Given the description of an element on the screen output the (x, y) to click on. 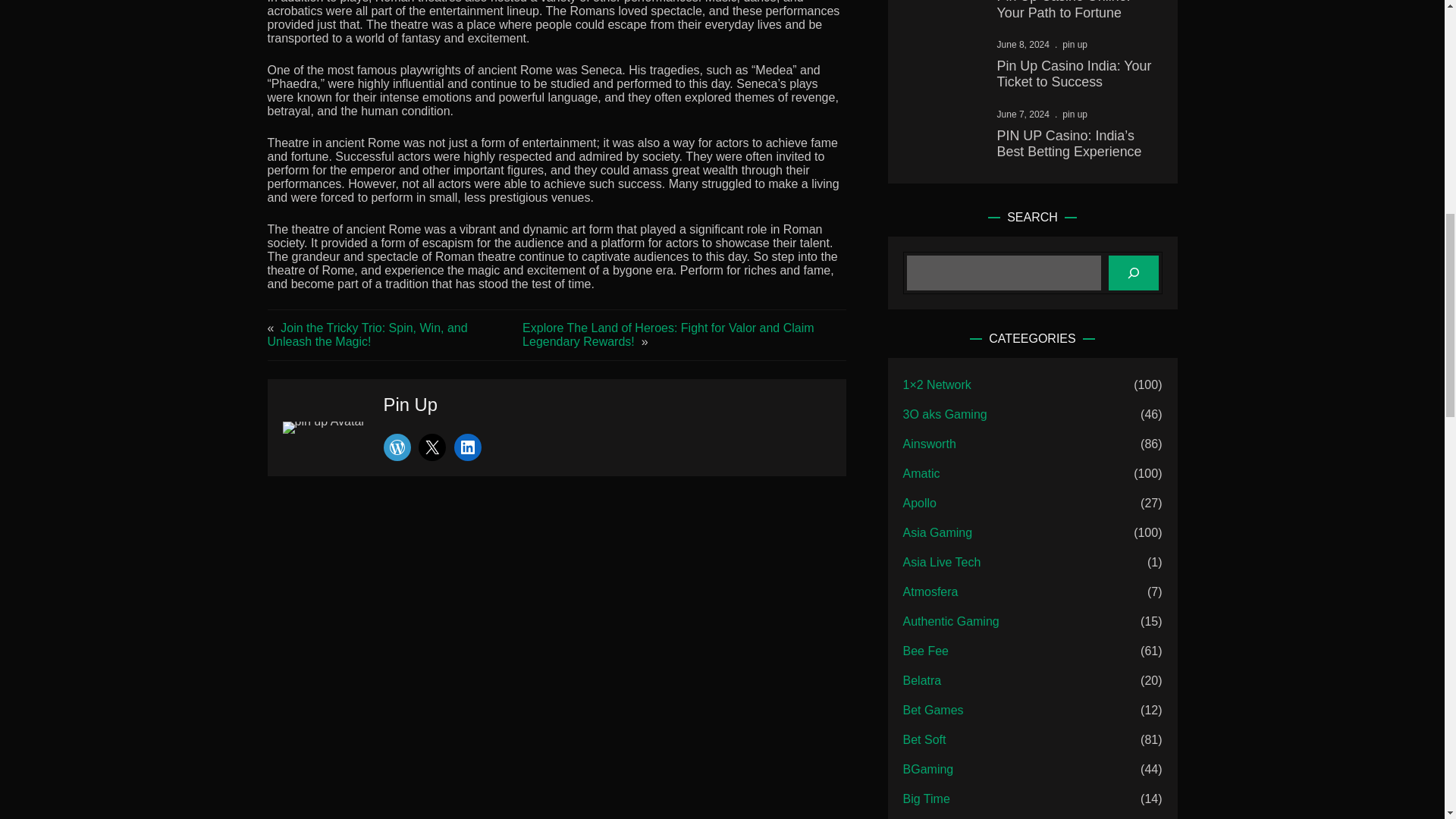
Apollo (919, 503)
Asia Gaming (937, 532)
3O aks Gaming (944, 414)
Pin Up Casino India: Your Ticket to Success (1075, 74)
Amatic (921, 473)
Bet Games (932, 710)
WordPress (397, 447)
Asia Live Tech (941, 562)
Pin Up Casino Online: Your Path to Fortune (1075, 10)
Authentic Gaming (950, 621)
Bee Fee (925, 651)
Join the Tricky Trio: Spin, Win, and Unleash the Magic! (366, 334)
LinkedIn (467, 447)
Belatra (922, 680)
